Given the description of an element on the screen output the (x, y) to click on. 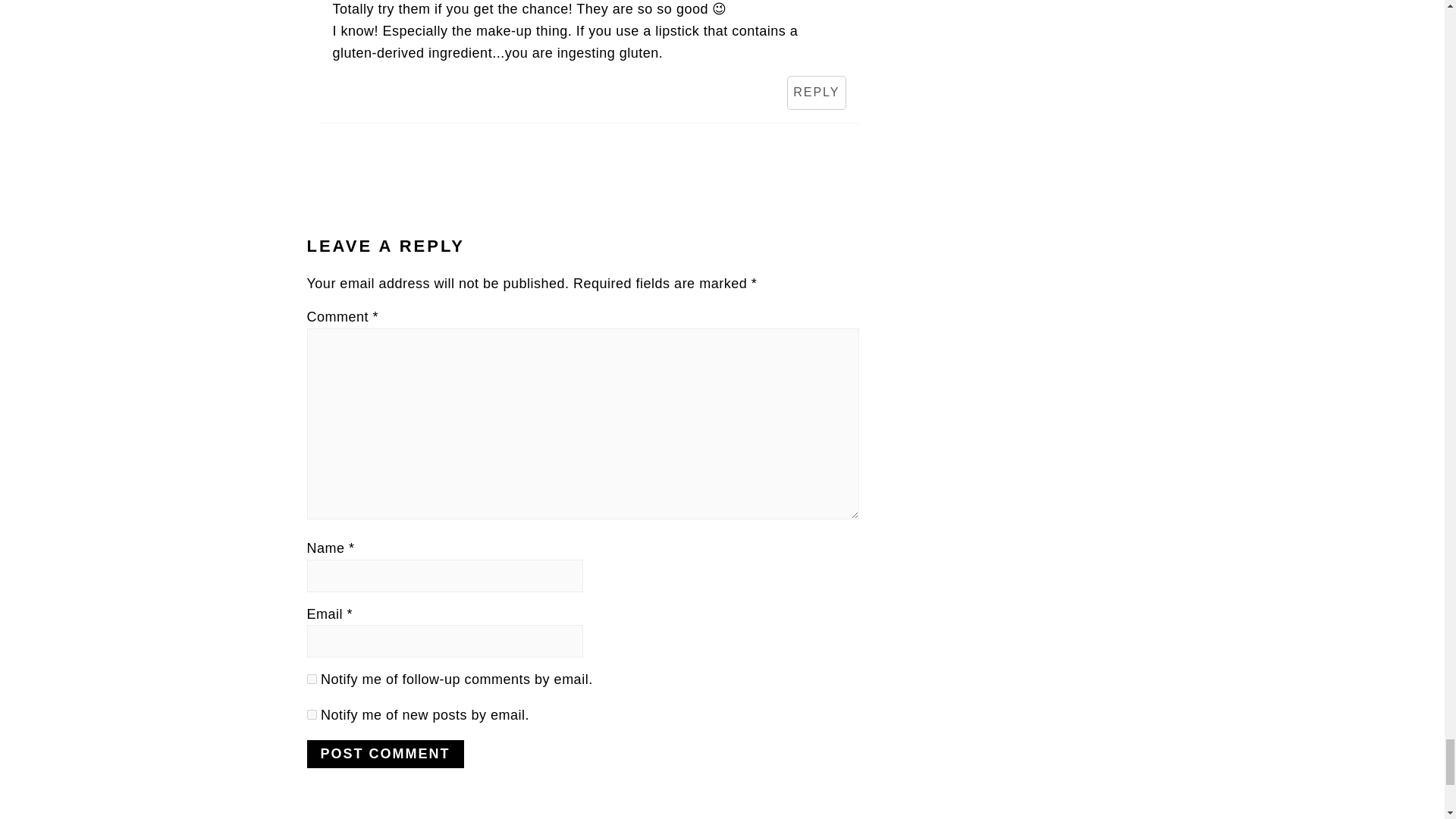
Post Comment (384, 754)
subscribe (310, 678)
subscribe (310, 714)
